Given the description of an element on the screen output the (x, y) to click on. 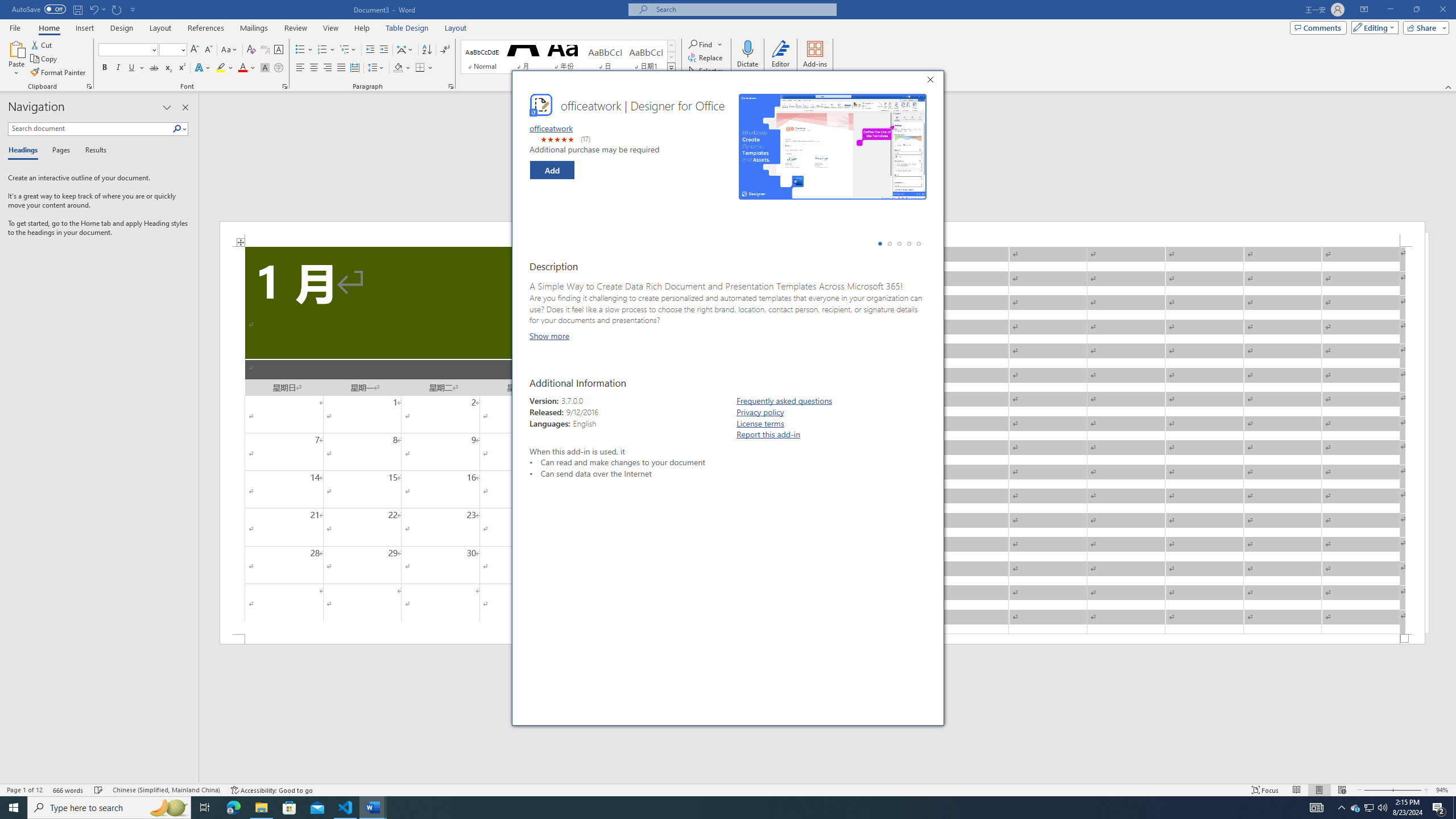
Check out all officeatwork products! (721, 542)
Book a call and we will gladly help you out. (671, 520)
Running applications (717, 807)
